Given the description of an element on the screen output the (x, y) to click on. 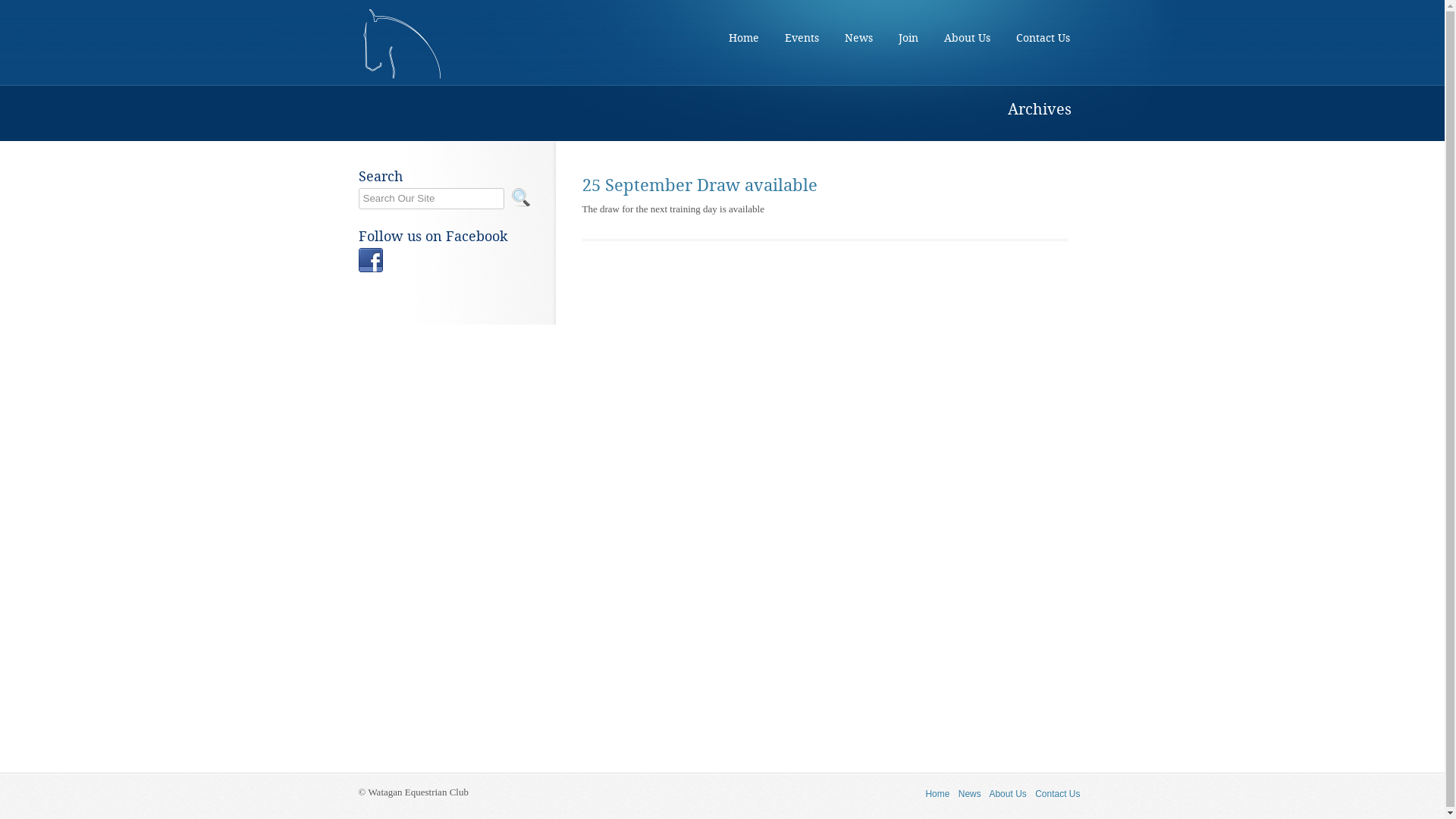
Events Element type: text (801, 37)
About Us Element type: text (1007, 793)
Join Element type: text (907, 37)
Home Element type: text (742, 37)
25 September Draw available Element type: text (699, 184)
About Us Element type: text (966, 37)
News Element type: text (969, 793)
News Element type: text (858, 37)
Contact Us Element type: text (1043, 37)
Home Element type: text (937, 793)
Contact Us Element type: text (1057, 793)
